Given the description of an element on the screen output the (x, y) to click on. 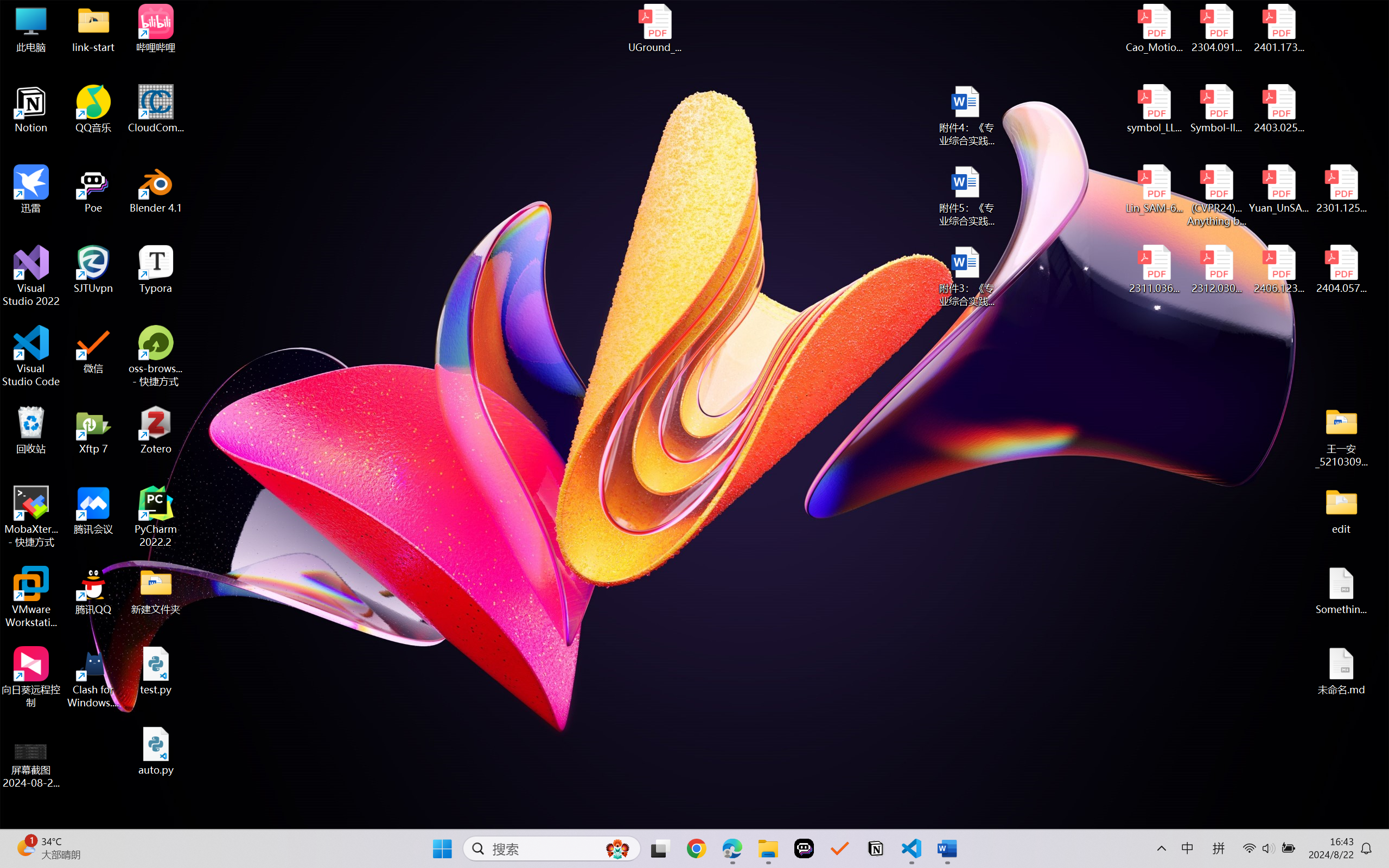
VMware Workstation Pro (31, 597)
2403.02502v1.pdf (1278, 109)
2404.05719v1.pdf (1340, 269)
Typora (156, 269)
auto.py (156, 751)
SJTUvpn (93, 269)
